Given the description of an element on the screen output the (x, y) to click on. 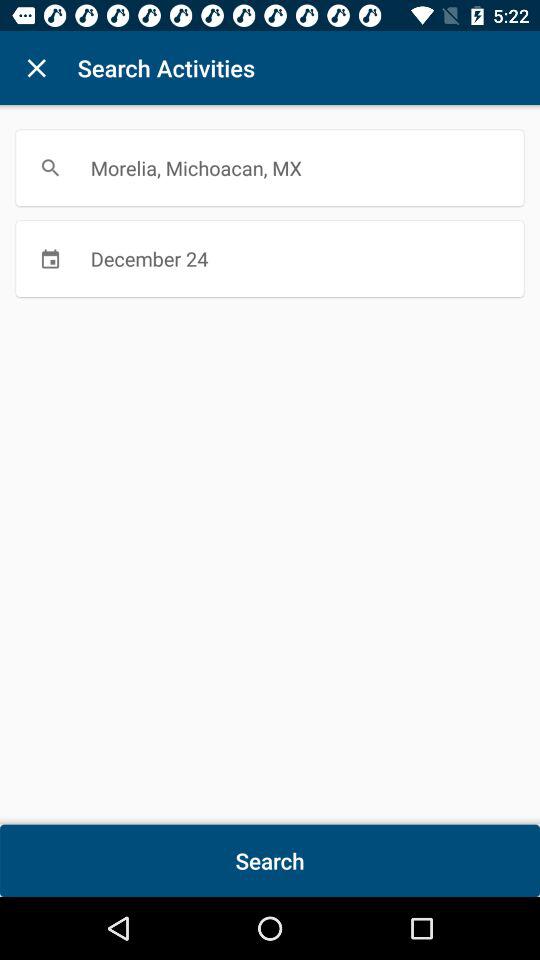
open morelia, michoacan, mx (269, 168)
